Given the description of an element on the screen output the (x, y) to click on. 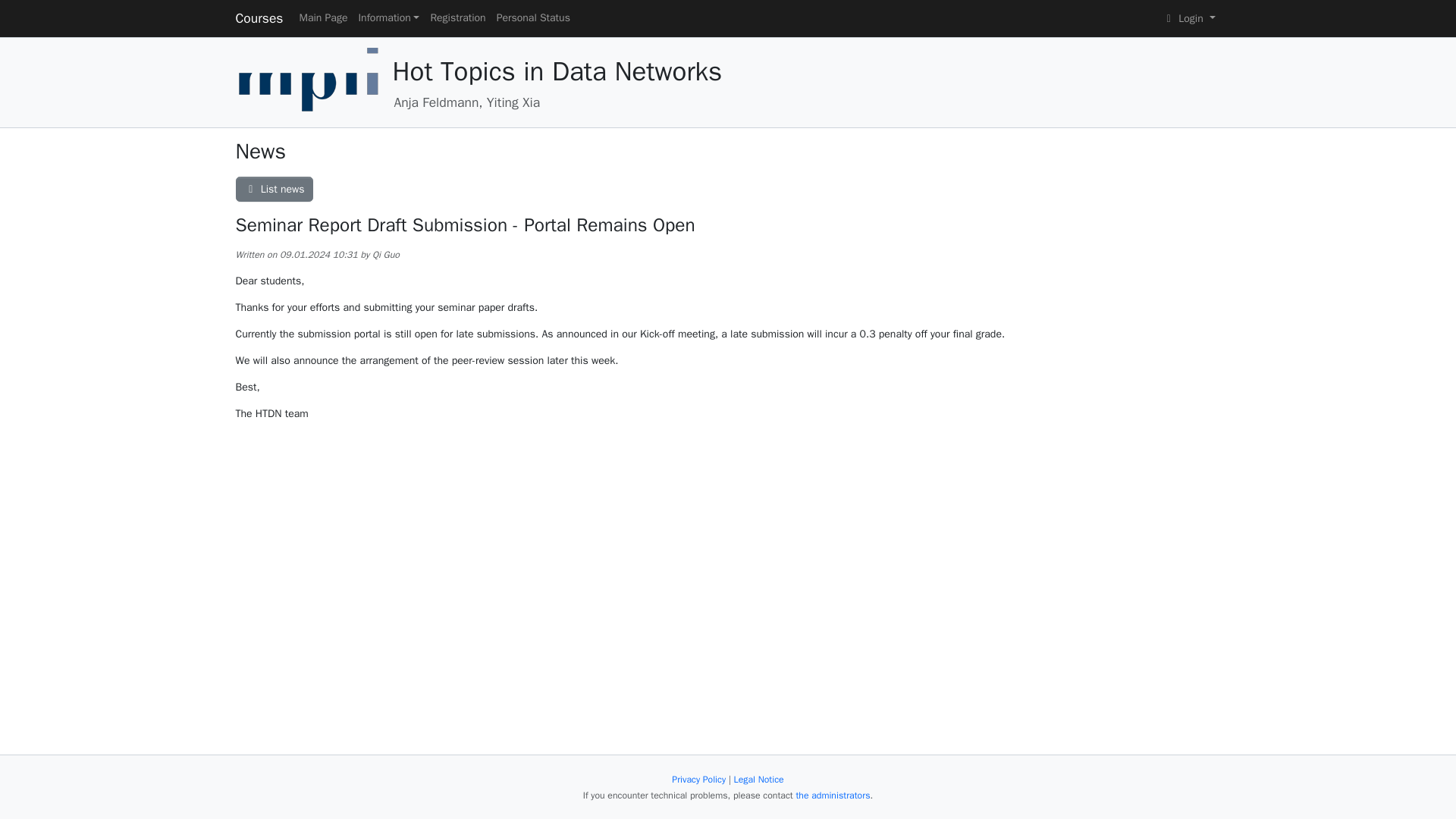
Information (388, 18)
Registration (457, 18)
Legal Notice (758, 779)
Privacy Policy (698, 779)
Main Page (323, 18)
Front Page (307, 81)
List news (273, 189)
Courses (258, 17)
Login (1189, 17)
the administrators (831, 795)
Personal Status (533, 18)
